Given the description of an element on the screen output the (x, y) to click on. 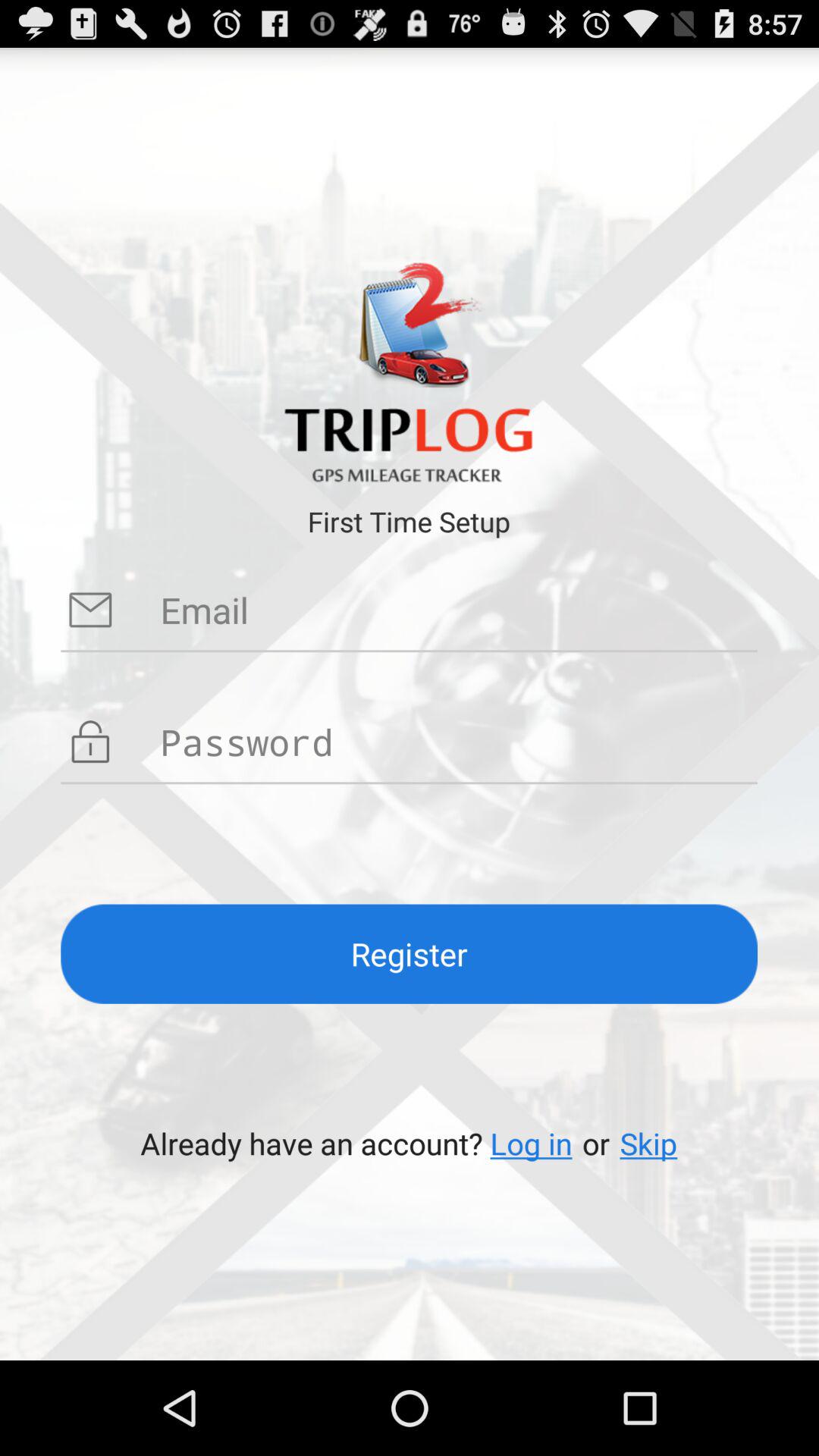
swipe to the register icon (408, 953)
